Given the description of an element on the screen output the (x, y) to click on. 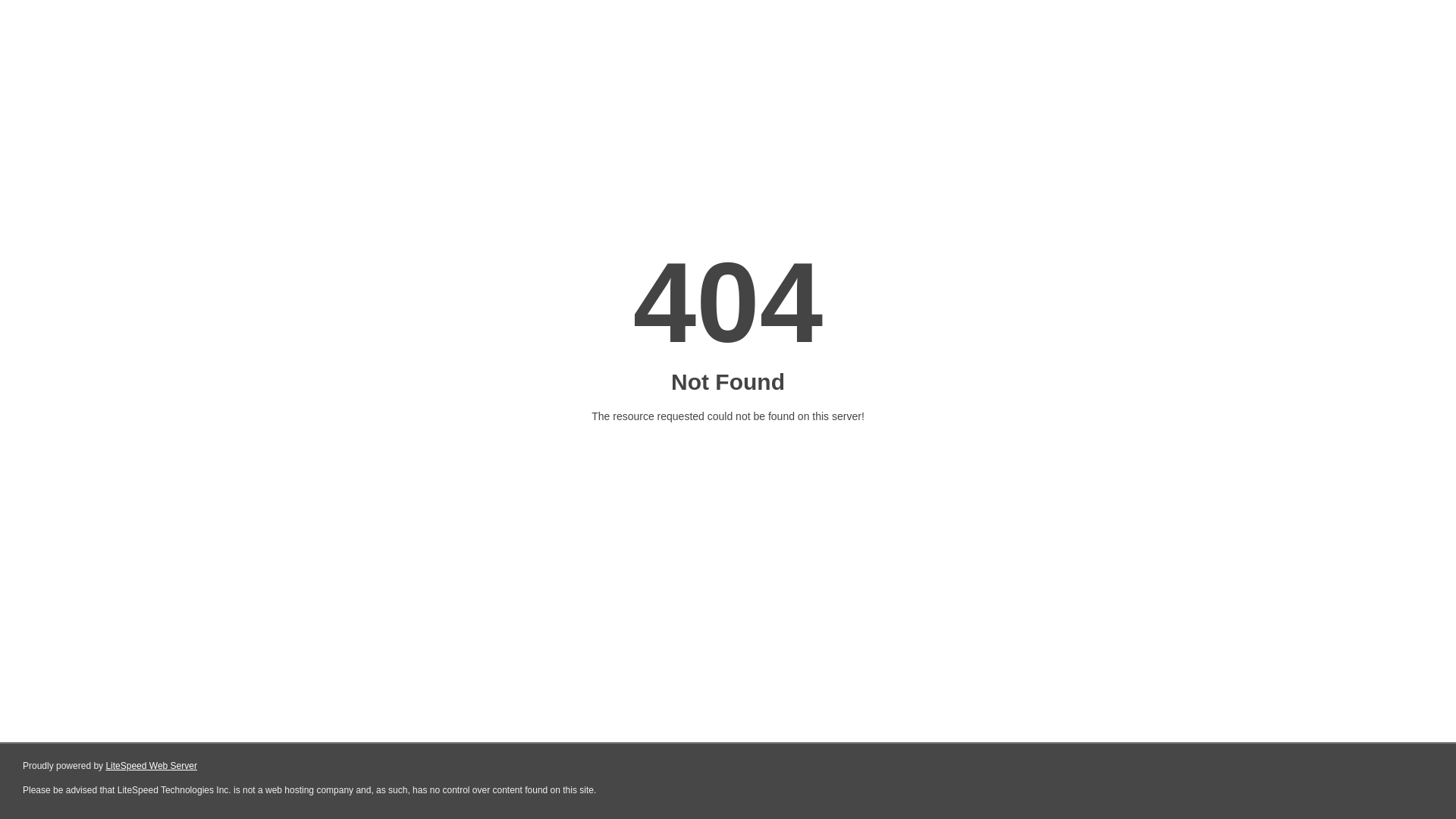
LiteSpeed Web Server Element type: text (151, 765)
